Given the description of an element on the screen output the (x, y) to click on. 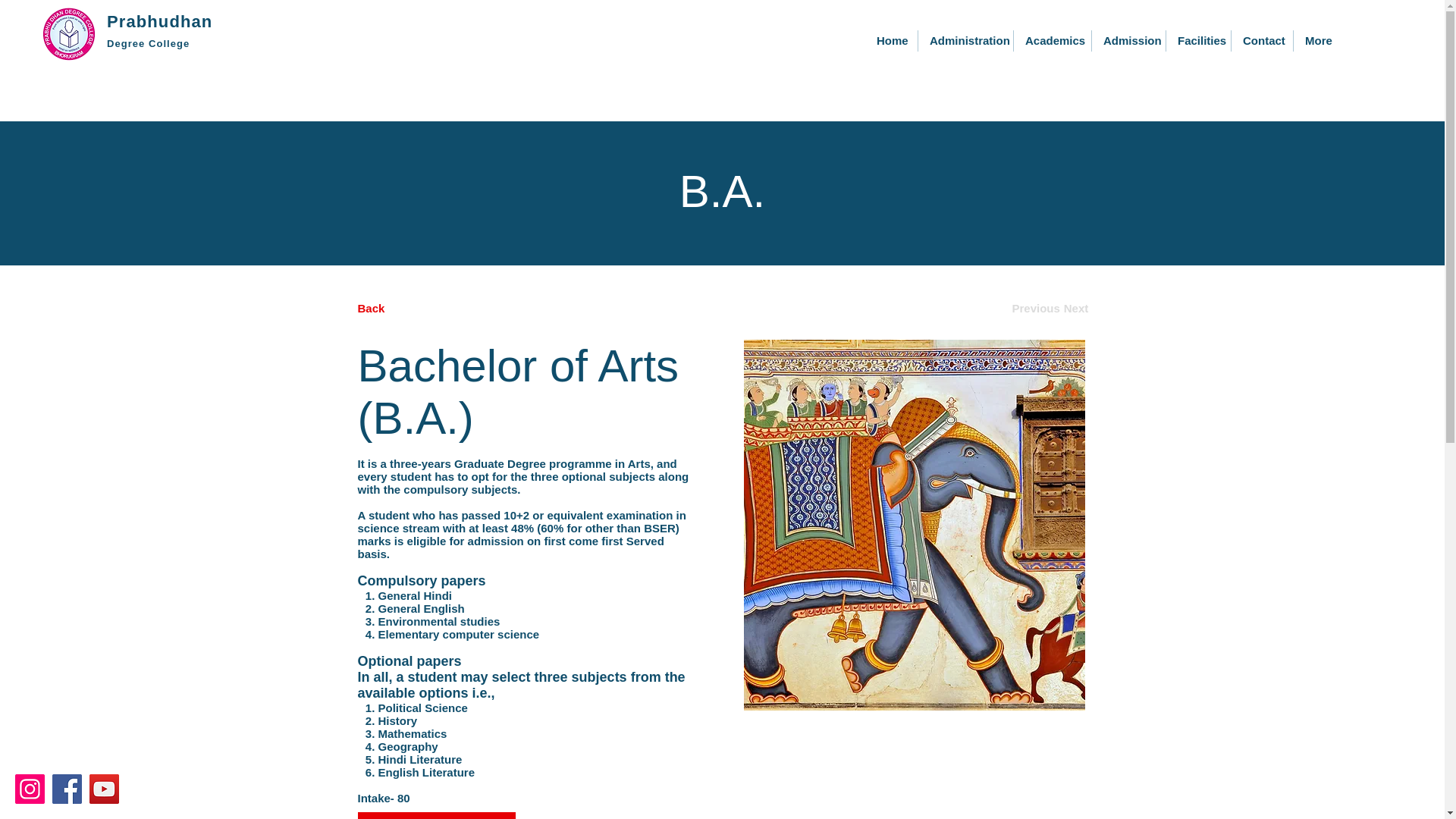
APPLICATION FORM (436, 815)
Prabhudhan (159, 21)
Degree College (147, 43)
Next (1076, 308)
Indian Art.jpeg (913, 524)
Home (890, 40)
Facilities (1198, 40)
Administration (965, 40)
Back (414, 308)
Previous (1035, 308)
Academics (1051, 40)
Contact (1261, 40)
Admission (1129, 40)
